Given the description of an element on the screen output the (x, y) to click on. 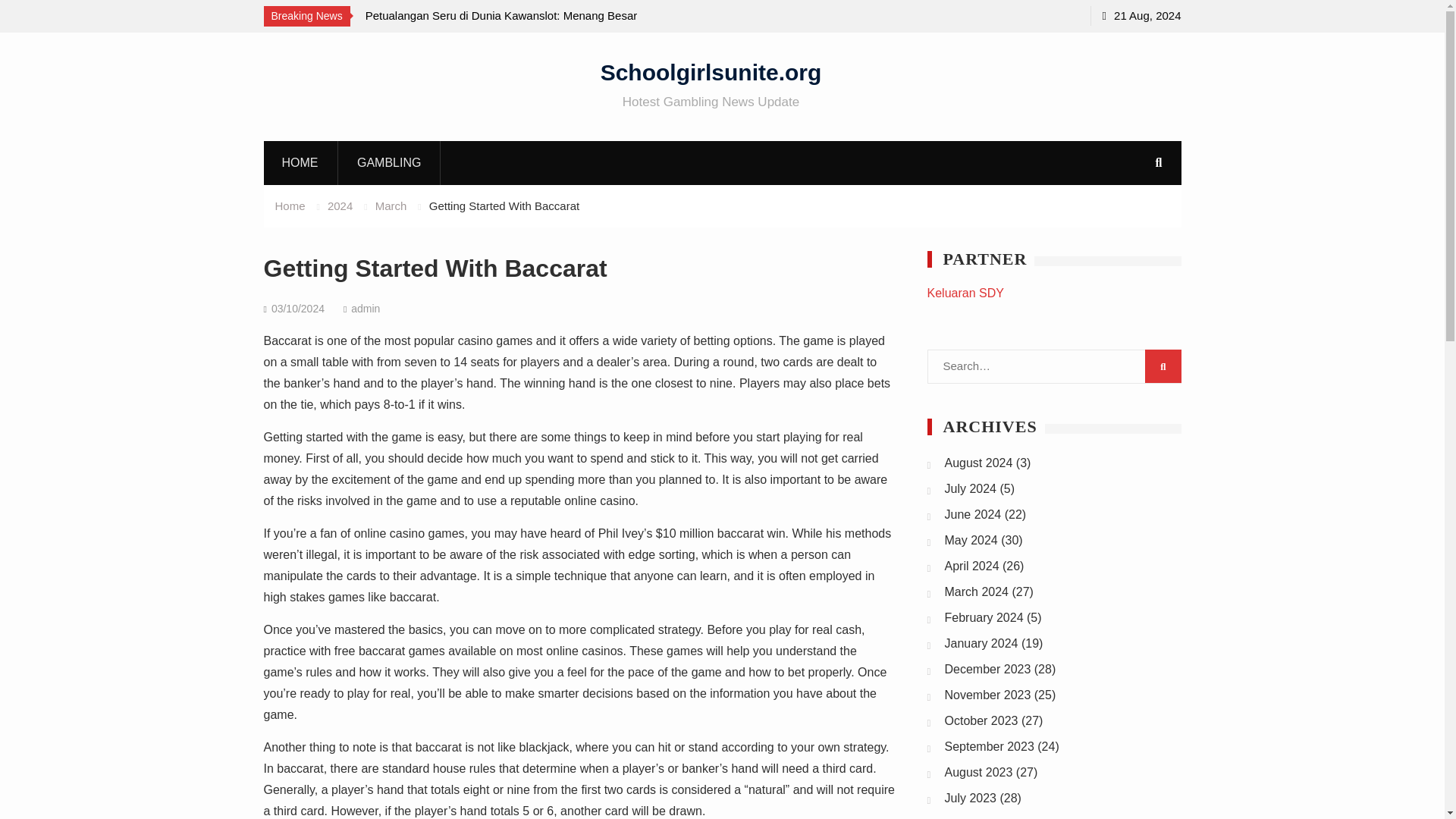
2024 (339, 205)
July 2023 (970, 797)
June 2023 (972, 818)
Schoolgirlsunite.org (710, 71)
December 2023 (987, 668)
August 2023 (978, 771)
September 2023 (988, 746)
HOME (299, 162)
admin (365, 308)
April 2024 (971, 565)
